Given the description of an element on the screen output the (x, y) to click on. 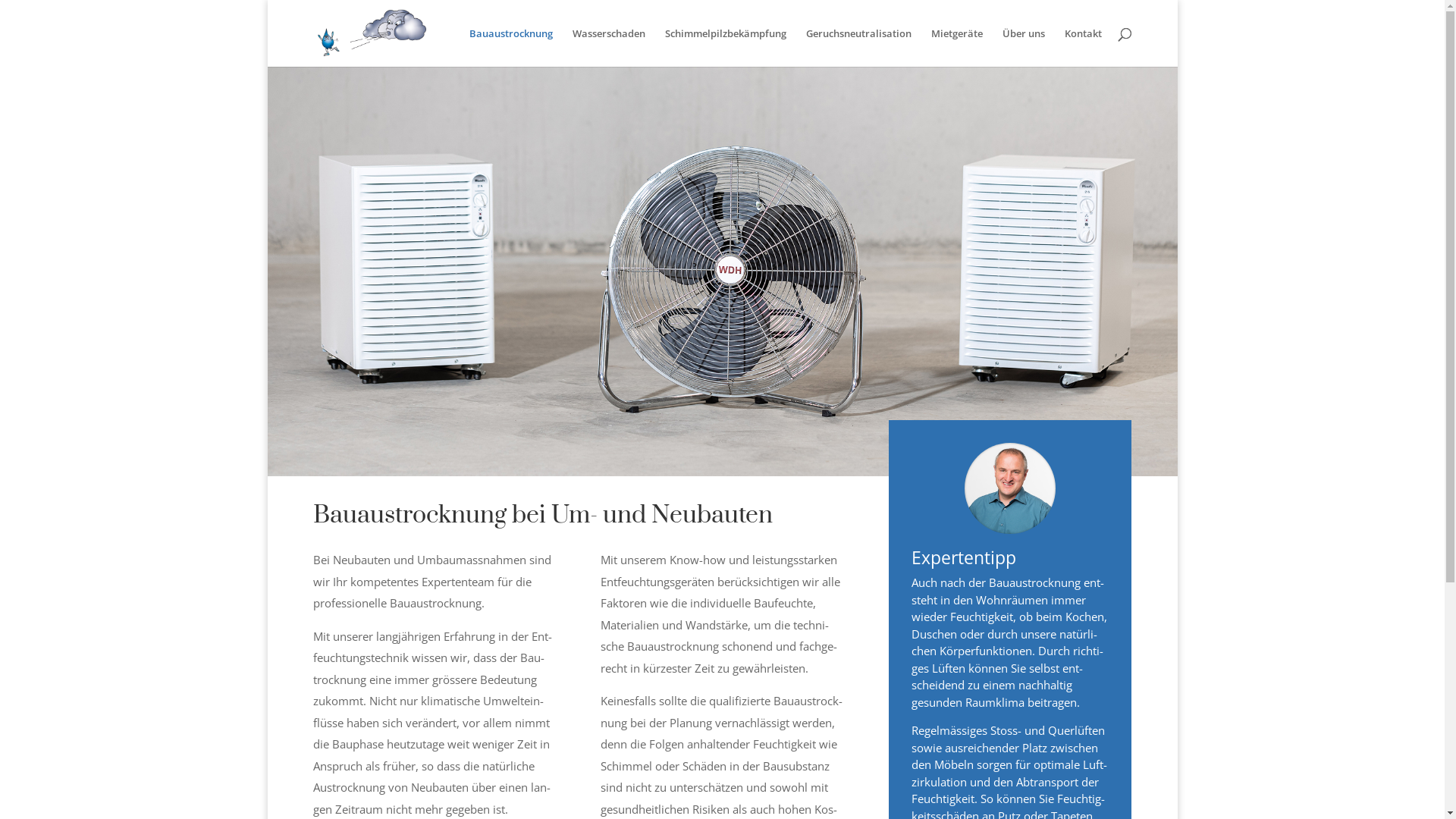
bauaustrocknung banner Element type: hover (721, 271)
